Given the description of an element on the screen output the (x, y) to click on. 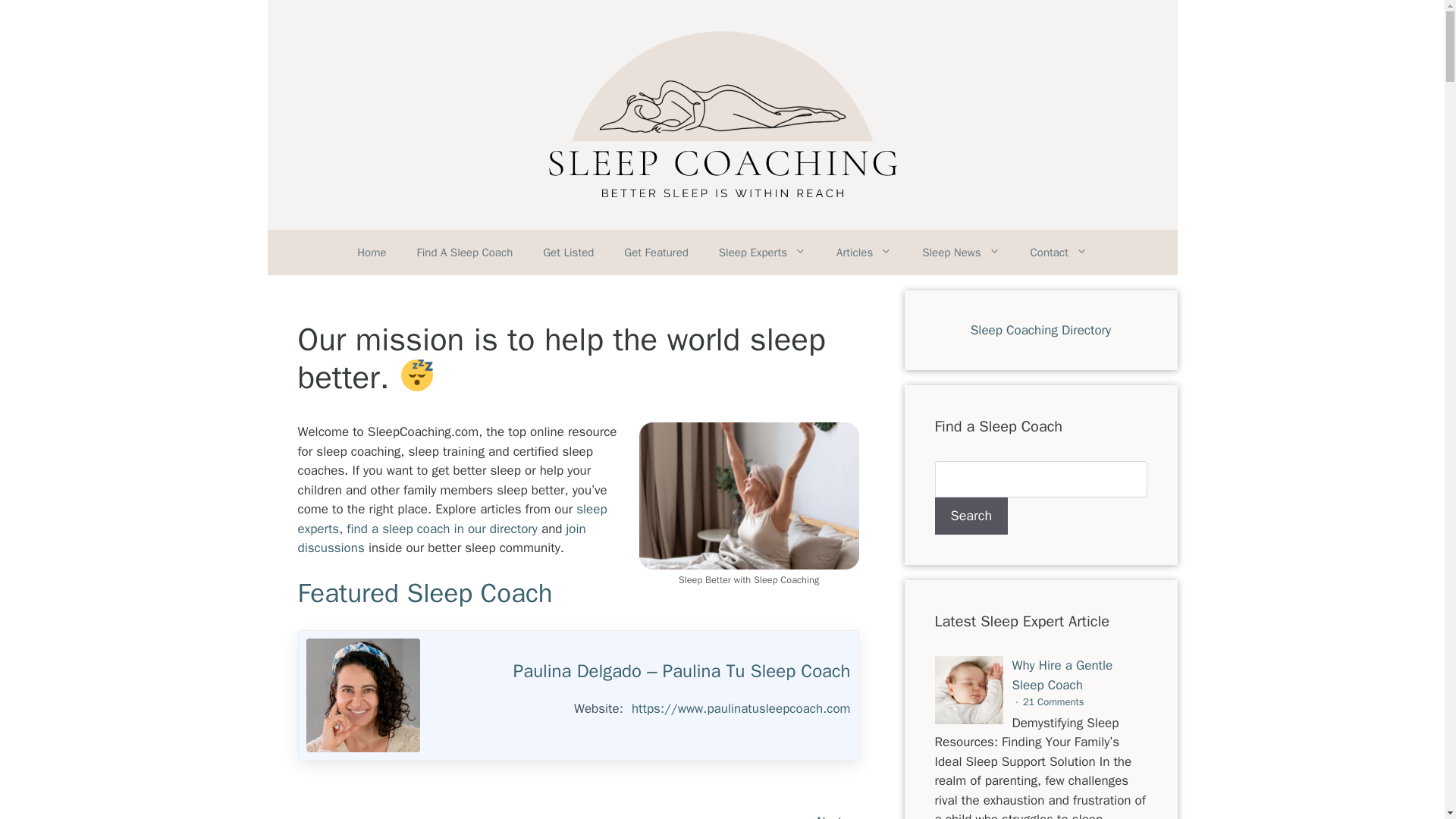
find a sleep coach in our directory (441, 528)
Get Featured (655, 251)
Get Listed (567, 251)
join discussions (441, 538)
Paulina Delgado - Paulina Tu Sleep Coach (362, 695)
Sleep Better with Sleep Coaching (749, 495)
Contact (1058, 251)
Sleep Experts (762, 251)
Sleep News (960, 251)
Search (970, 515)
sleep experts (452, 519)
Search (970, 515)
Home (371, 251)
Find A Sleep Coach (464, 251)
Articles (864, 251)
